Given the description of an element on the screen output the (x, y) to click on. 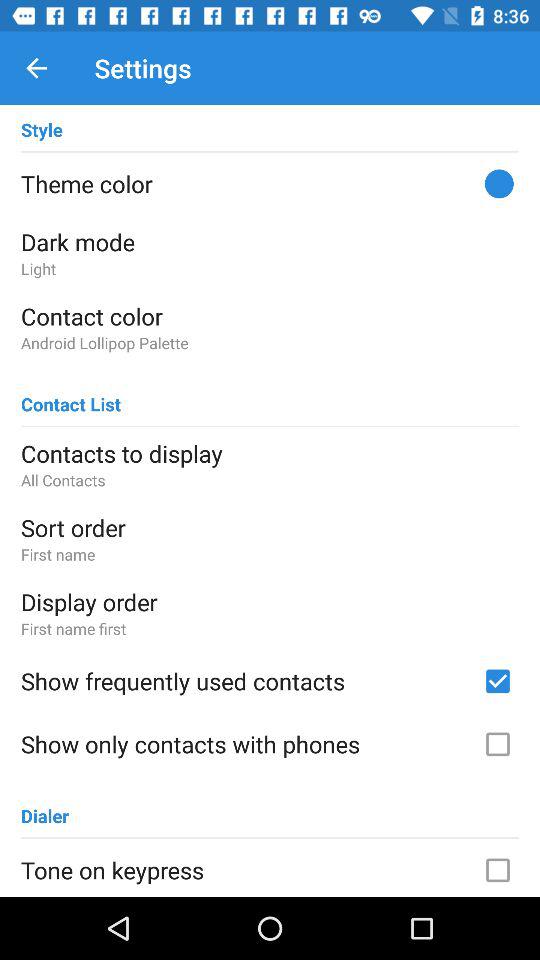
launch the contact list on the left (71, 395)
